Given the description of an element on the screen output the (x, y) to click on. 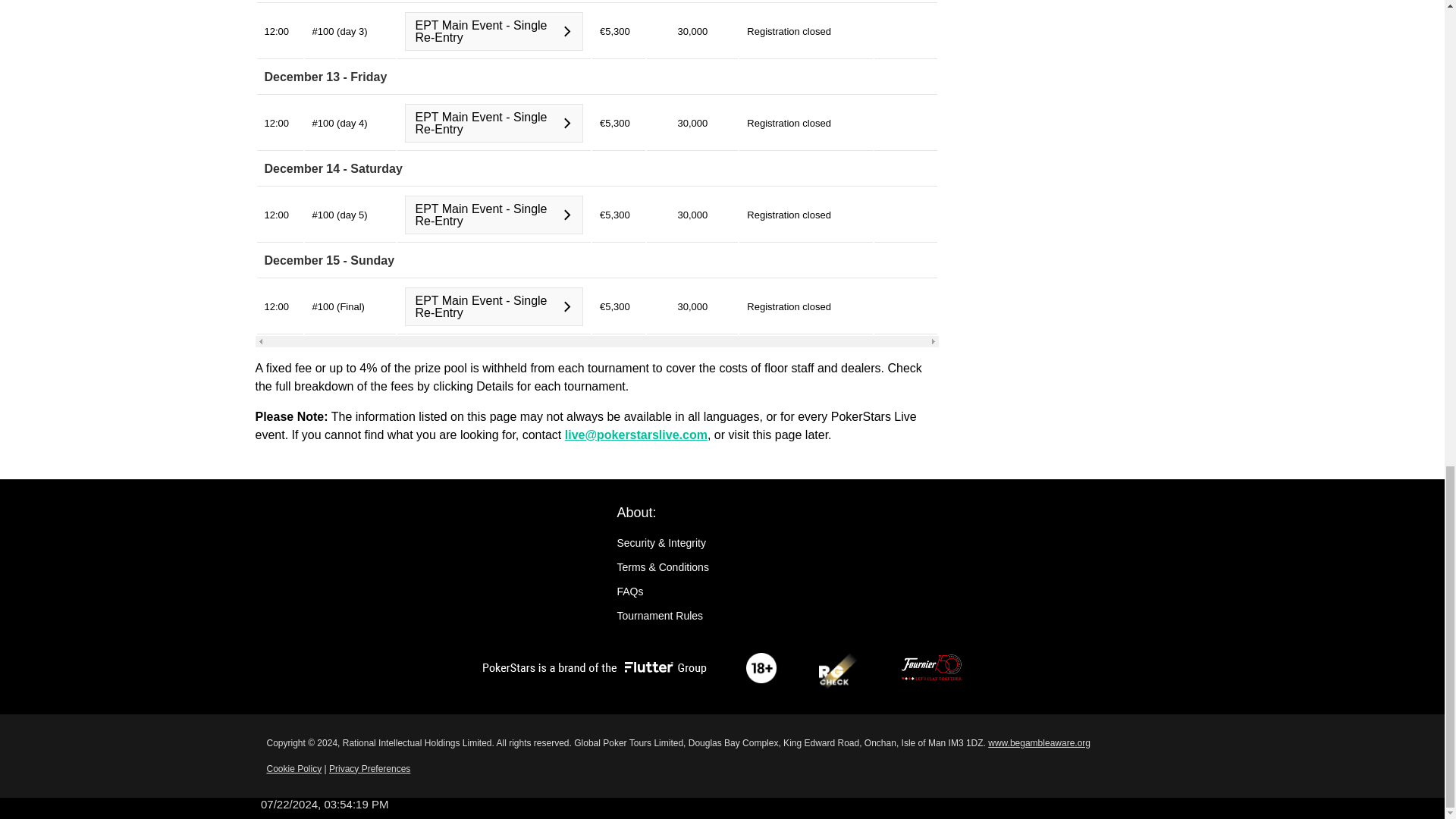
EPT Main Event - Single Re-Entry (494, 122)
EPT Main Event - Single Re-Entry (494, 31)
